Given the description of an element on the screen output the (x, y) to click on. 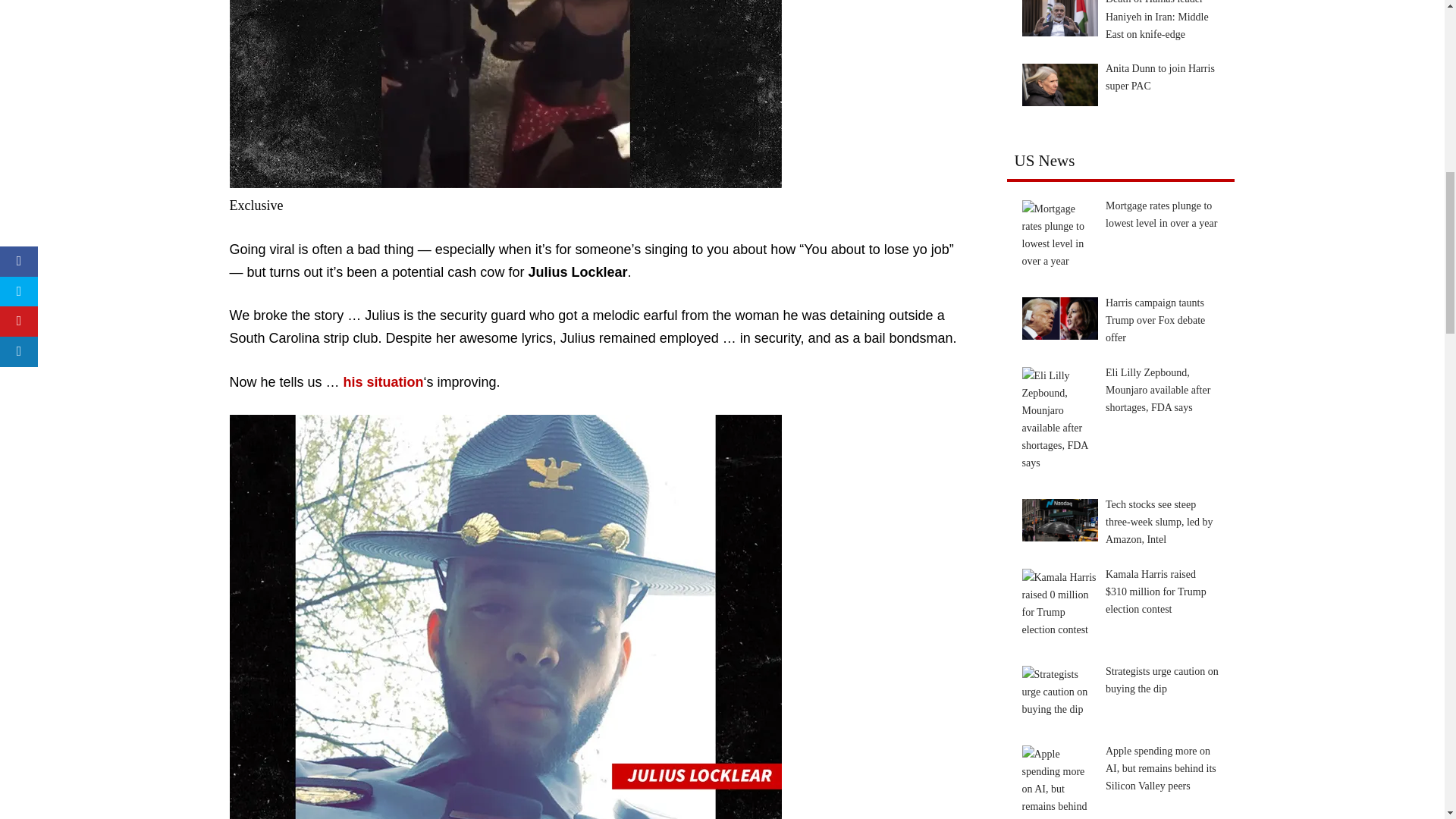
Harris campaign taunts Trump over Fox debate offer (1059, 318)
Mortgage rates plunge to lowest level in over a year (1059, 234)
Tech stocks see steep three-week slump, led by Amazon, Intel (1059, 519)
Anita Dunn to join Harris super PAC (1059, 84)
